Given the description of an element on the screen output the (x, y) to click on. 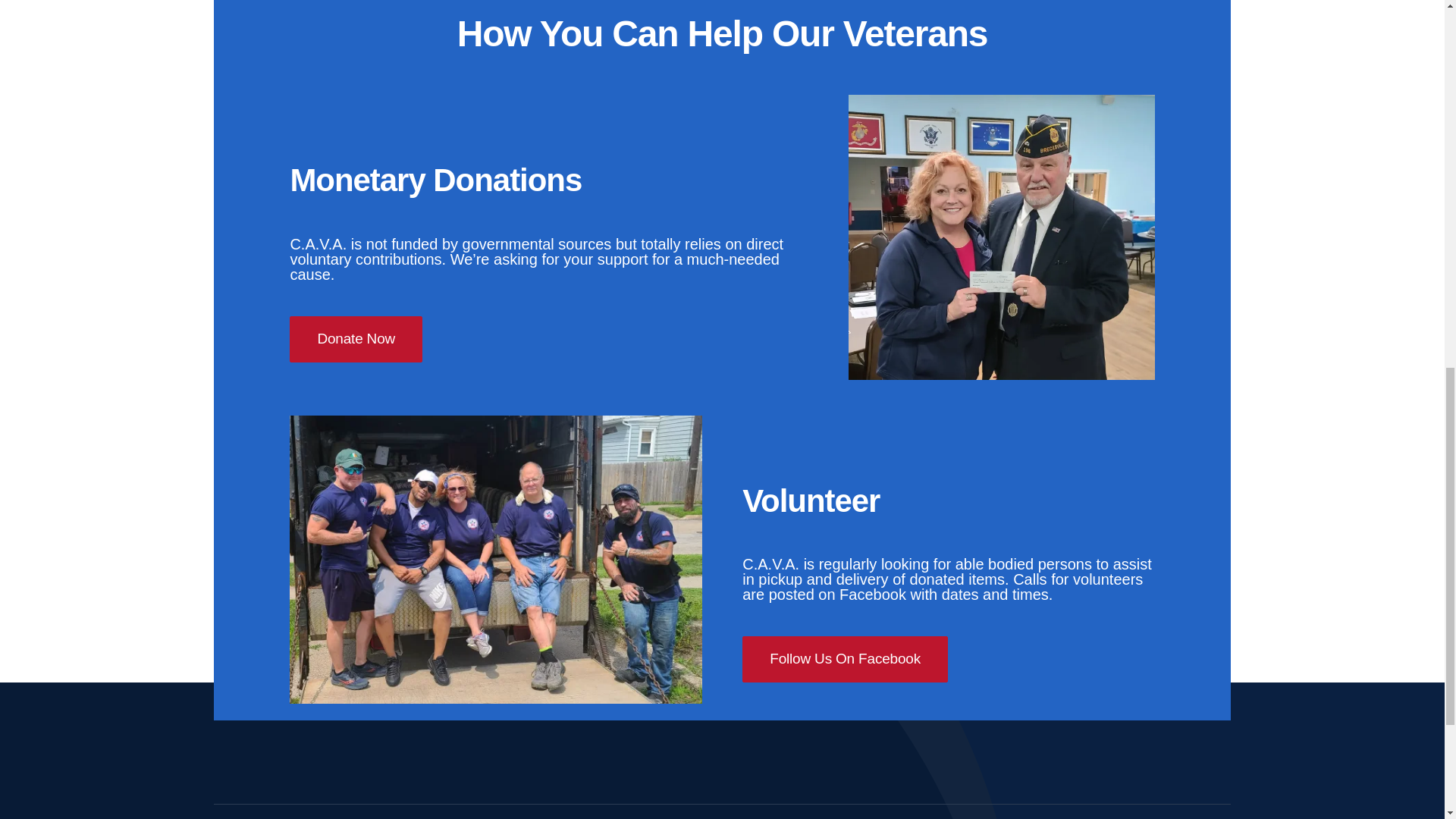
Follow Us On Facebook (844, 659)
Moving Crew (495, 559)
Donate Now (355, 339)
Check (1001, 237)
